Given the description of an element on the screen output the (x, y) to click on. 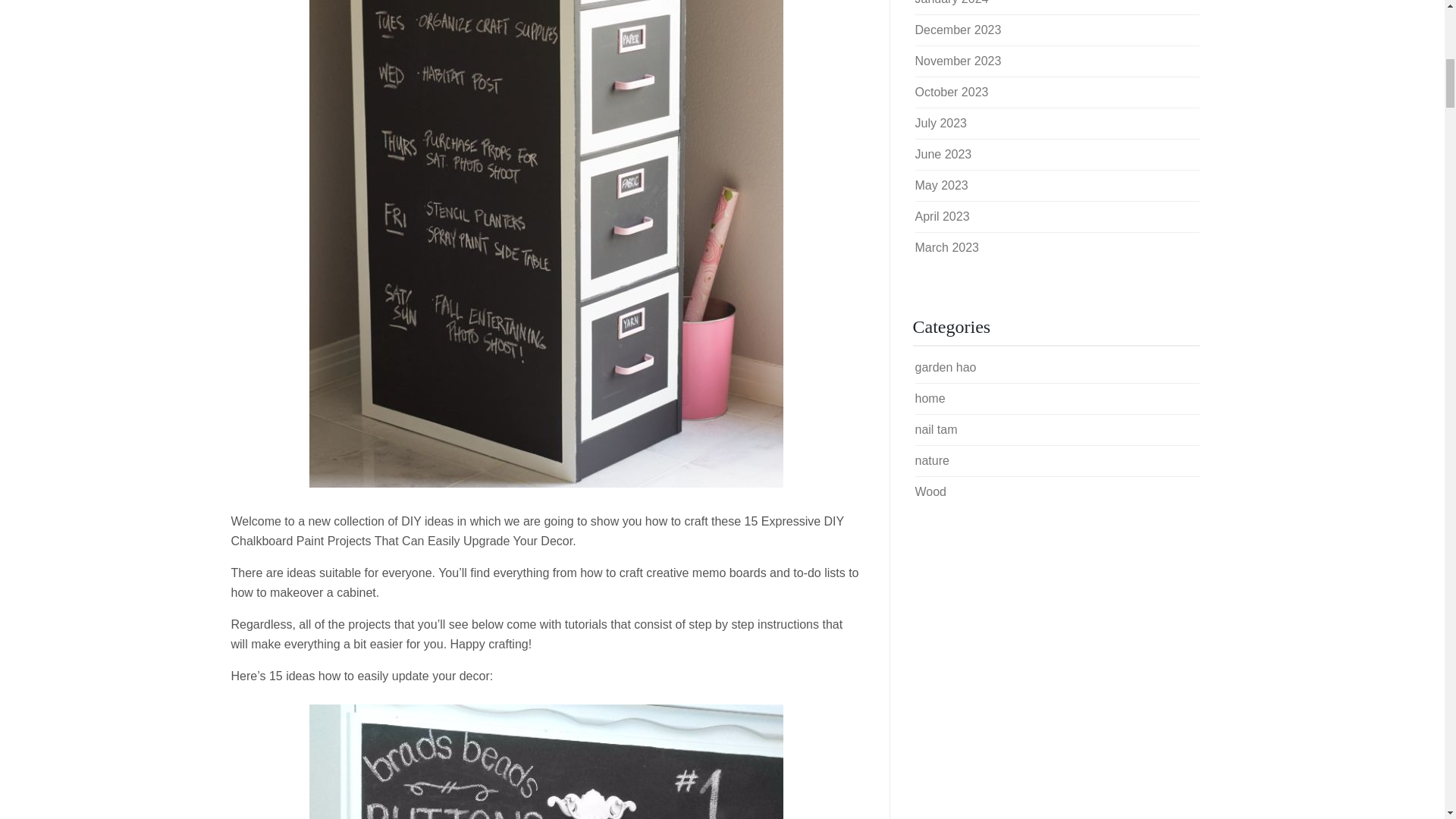
March 2023 (946, 246)
nail tam (935, 429)
June 2023 (942, 154)
home (929, 398)
July 2023 (940, 123)
May 2023 (941, 185)
April 2023 (941, 215)
December 2023 (957, 29)
garden hao (944, 367)
November 2023 (957, 60)
January 2024 (951, 2)
October 2023 (951, 91)
